Given the description of an element on the screen output the (x, y) to click on. 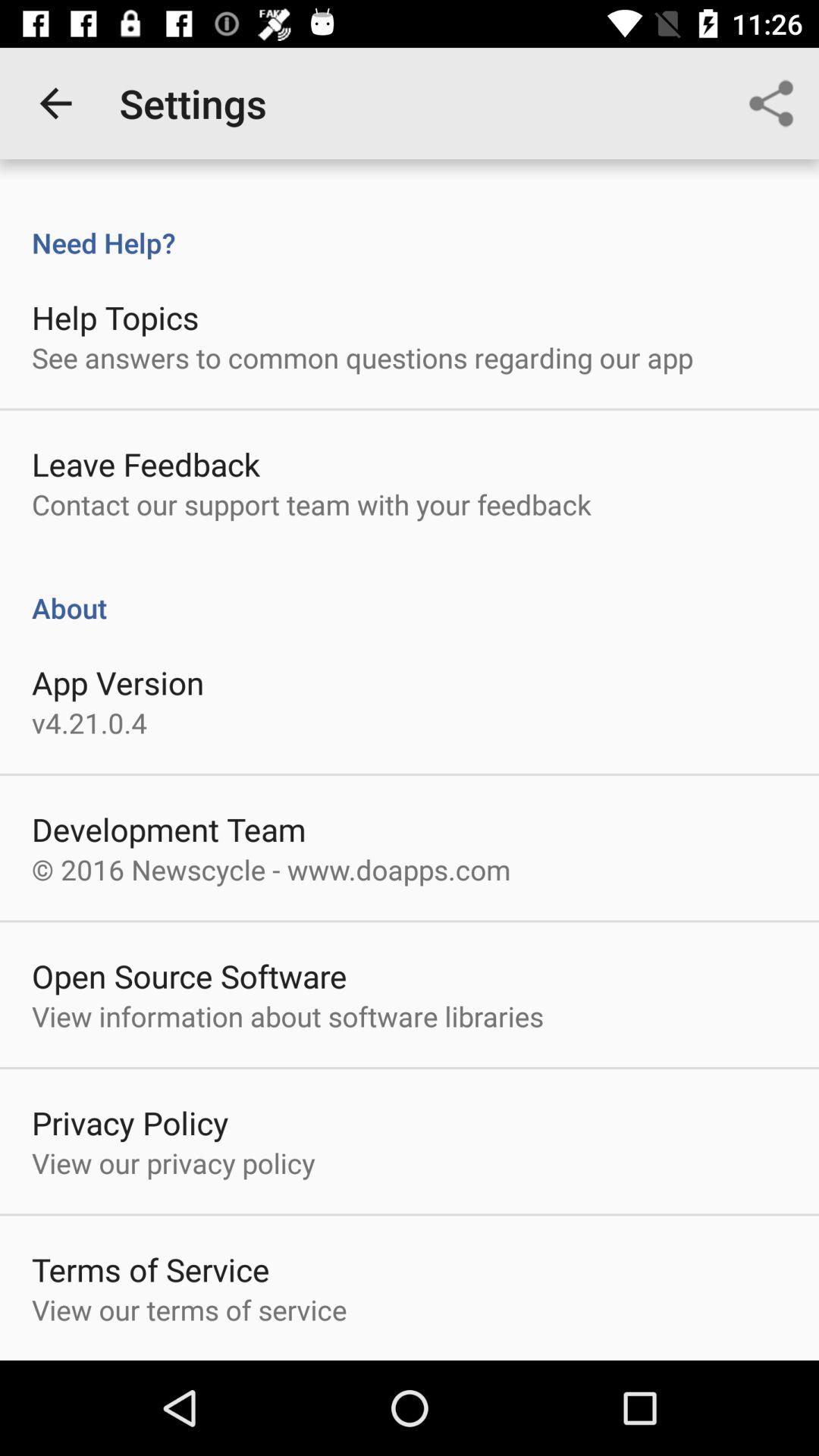
choose the item to the left of the settings  app (55, 103)
